Given the description of an element on the screen output the (x, y) to click on. 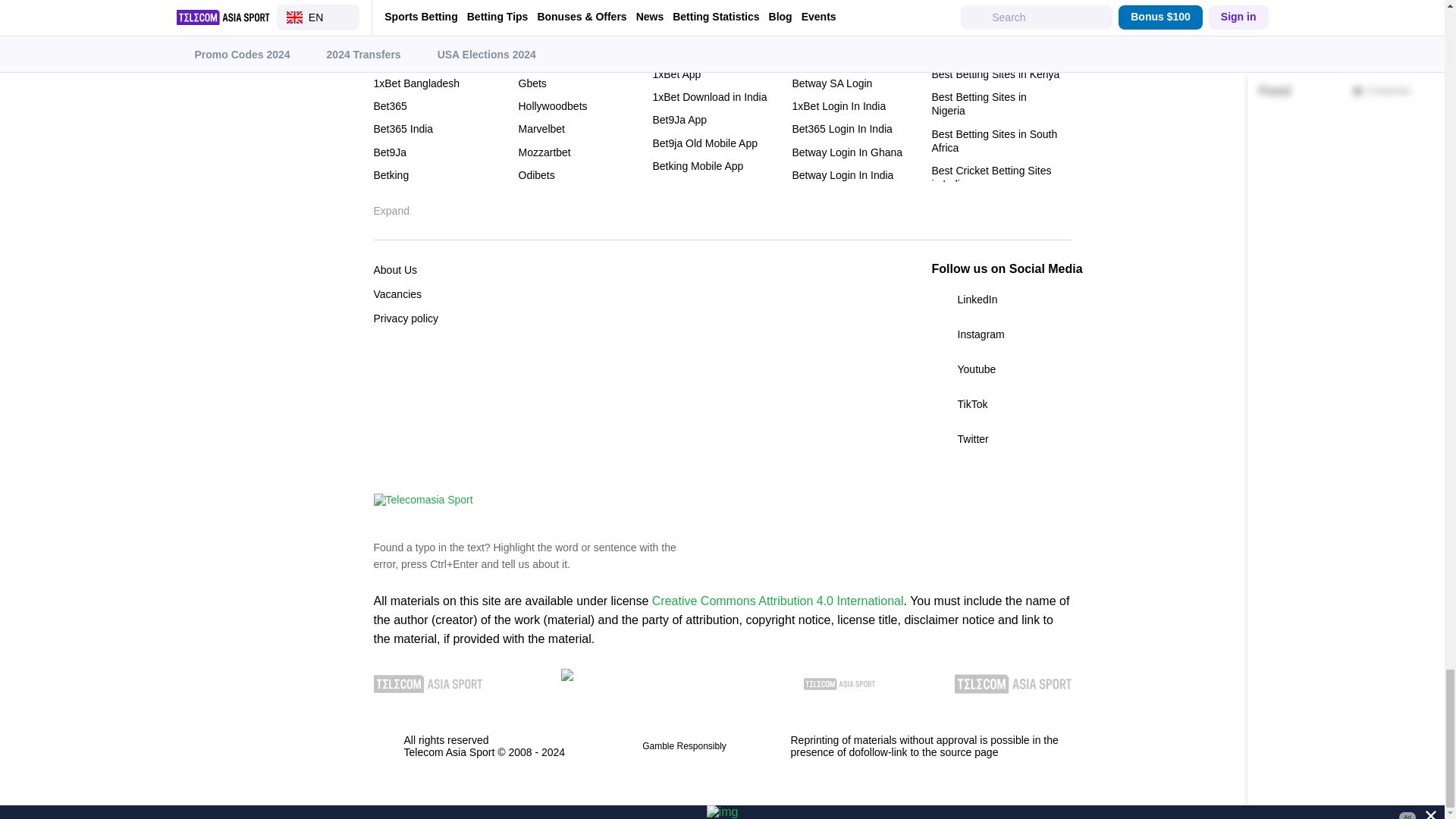
Youtube (1000, 369)
LinkedIn (1000, 299)
Instagram (1000, 334)
TikTok (1000, 403)
